Given the description of an element on the screen output the (x, y) to click on. 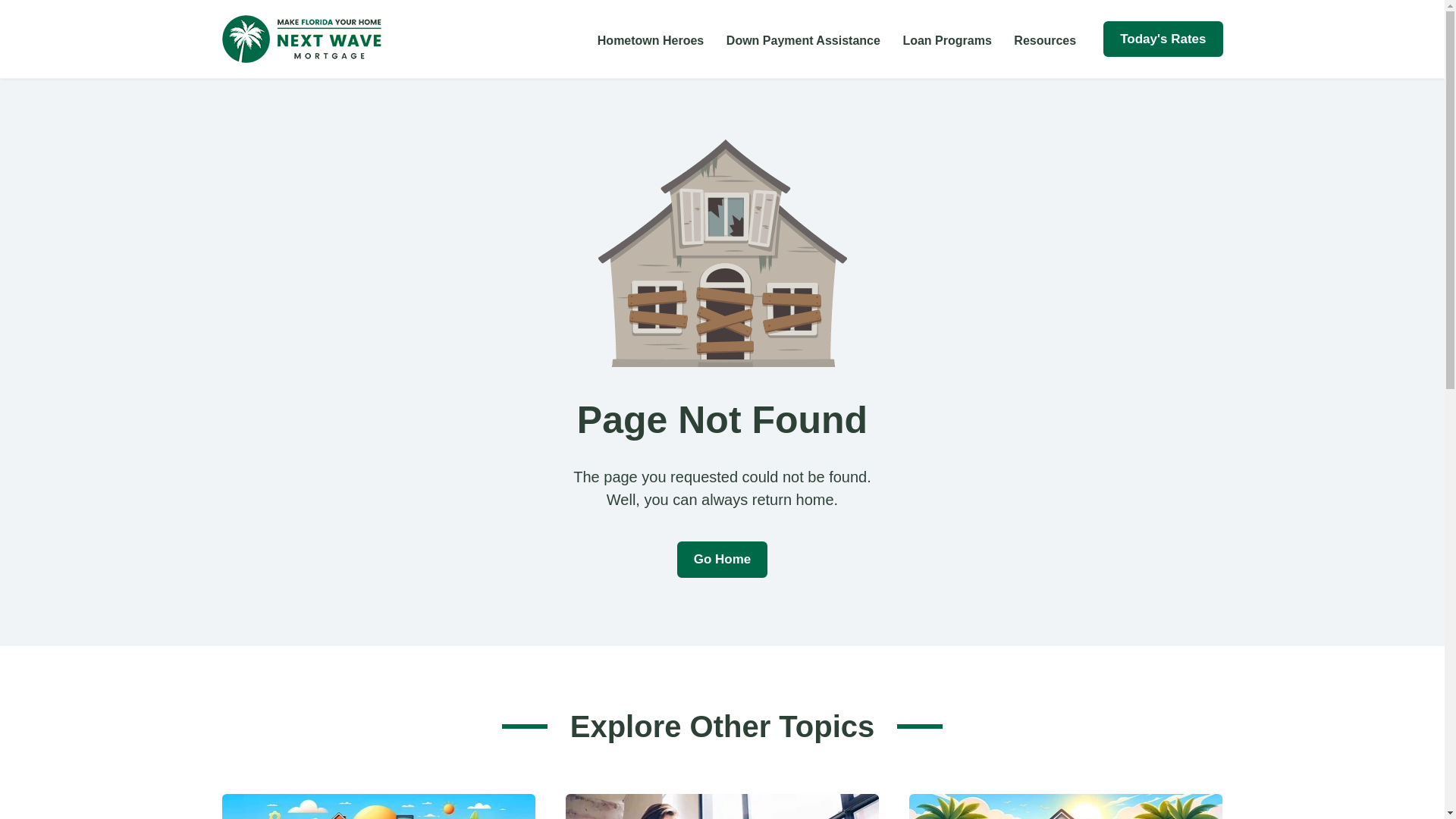
Make Florida Your Home (300, 39)
Hometown Heroes (650, 39)
Error (720, 252)
Today's Rates (1163, 39)
Loan Programs (946, 39)
Go Home (722, 559)
Today's Rates (1163, 39)
Down Payment Assistance (803, 39)
Resources (1044, 39)
